Given the description of an element on the screen output the (x, y) to click on. 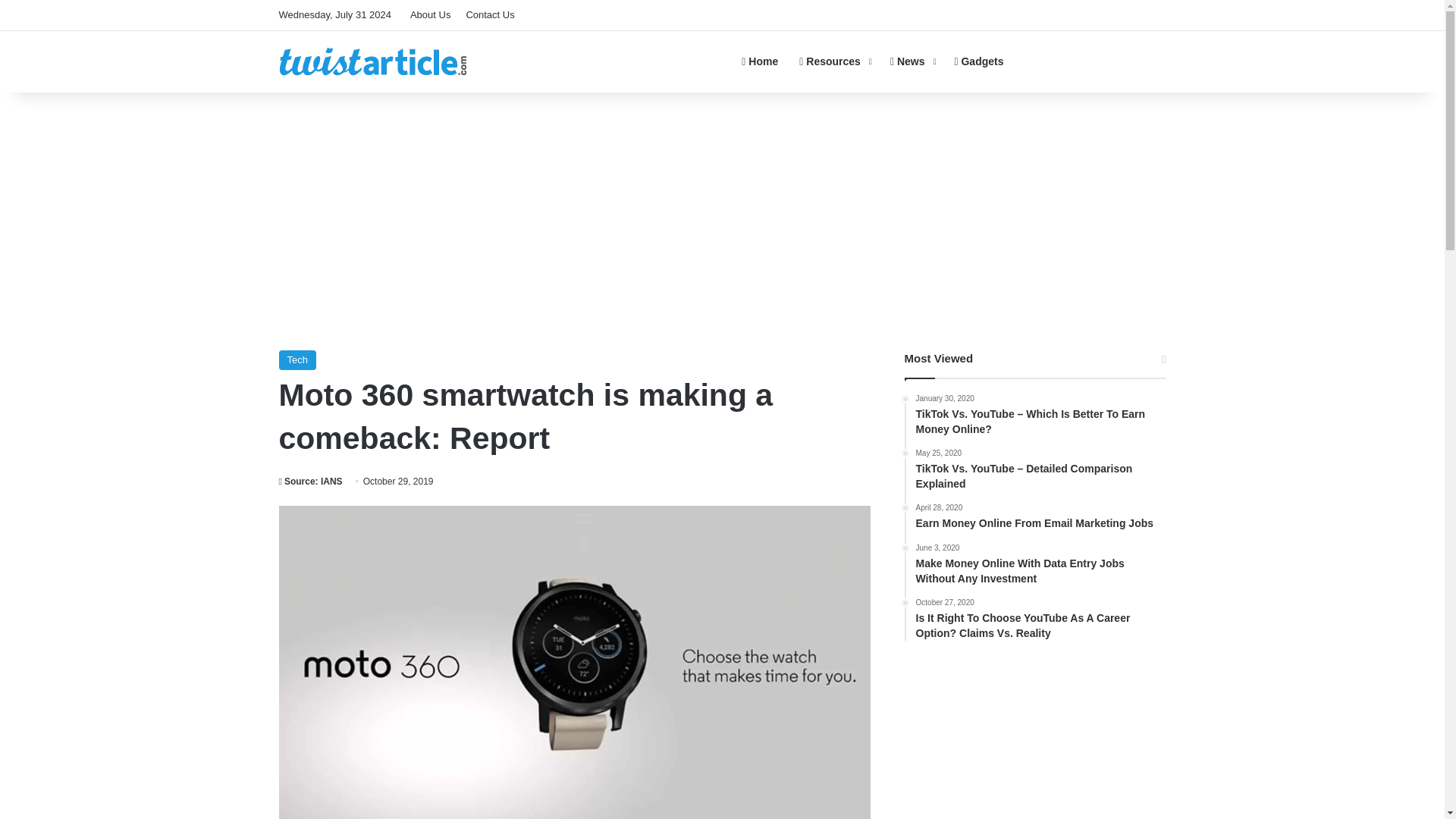
Resources (834, 61)
Source: IANS (310, 480)
Gadgets (978, 61)
TwistArticle (373, 60)
About Us (430, 15)
Source: IANS (310, 480)
Home (759, 61)
Contact Us (489, 15)
Tech (297, 360)
News (911, 61)
